Given the description of an element on the screen output the (x, y) to click on. 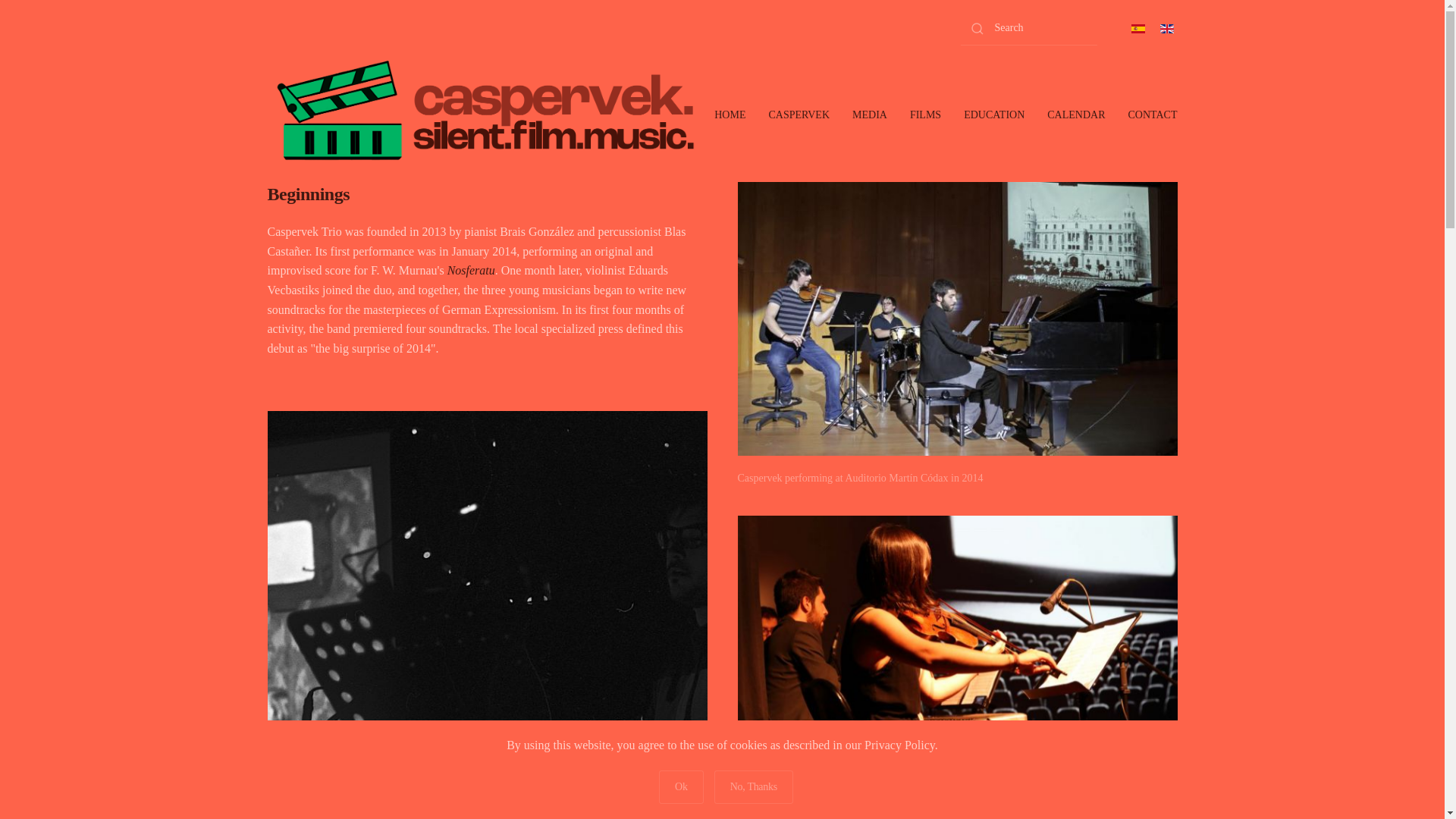
No, Thanks (753, 786)
MEDIA (869, 115)
Ok (681, 786)
CONTACT (1152, 115)
Beginnings (486, 194)
EDUCATION (993, 115)
CALENDAR (1075, 115)
CASPERVEK (799, 115)
